Given the description of an element on the screen output the (x, y) to click on. 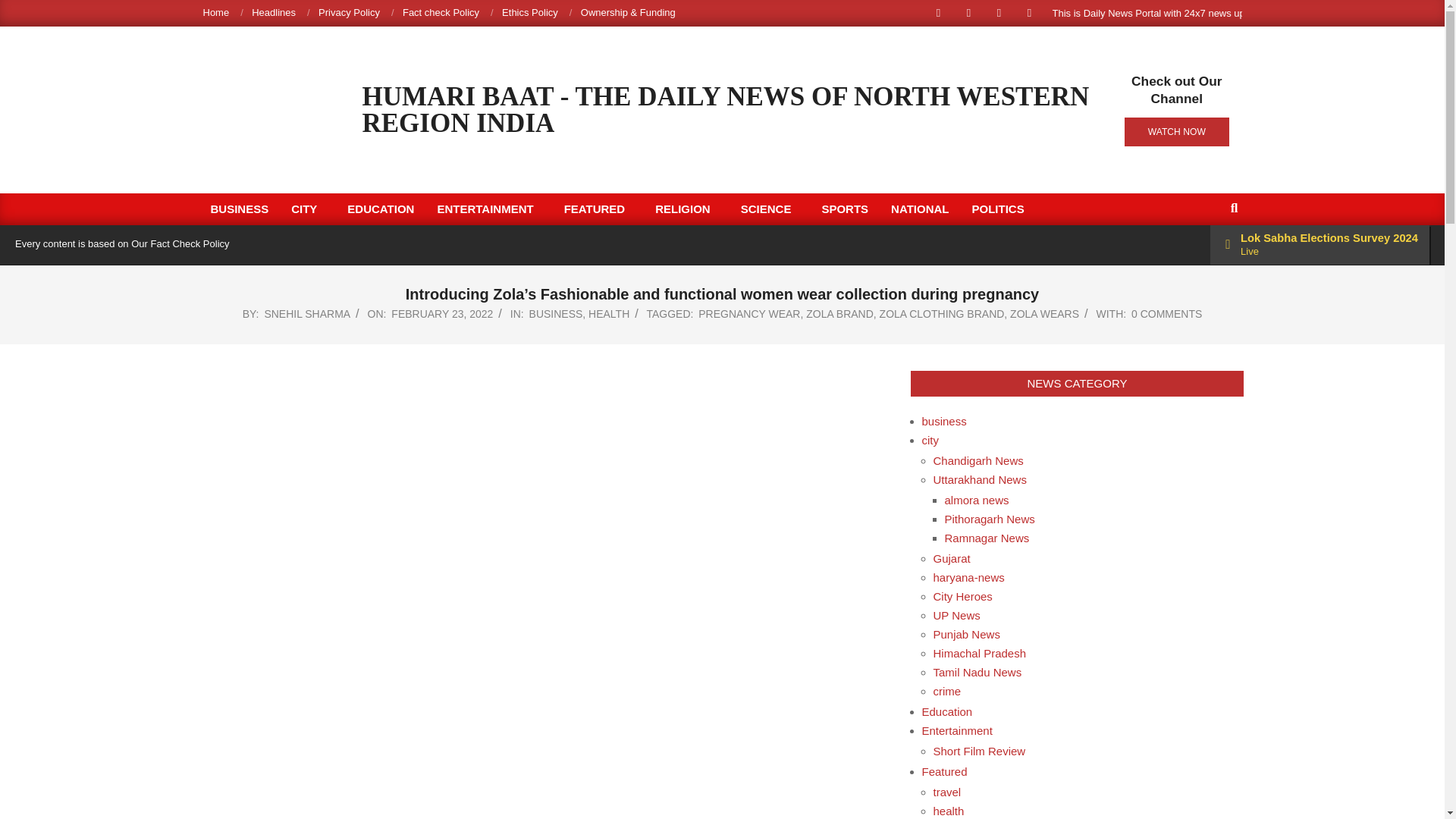
RELIGION (686, 209)
Wednesday, February 23, 2022, 9:14 am (442, 313)
Posts by Snehil Sharma (306, 313)
BUSINESS (238, 209)
Fact check Policy (441, 12)
HUMARI BAAT - THE DAILY NEWS OF NORTH WESTERN REGION INDIA (725, 109)
CITY (307, 209)
Ethics Policy (529, 12)
EDUCATION (380, 209)
ENTERTAINMENT (488, 209)
